Given the description of an element on the screen output the (x, y) to click on. 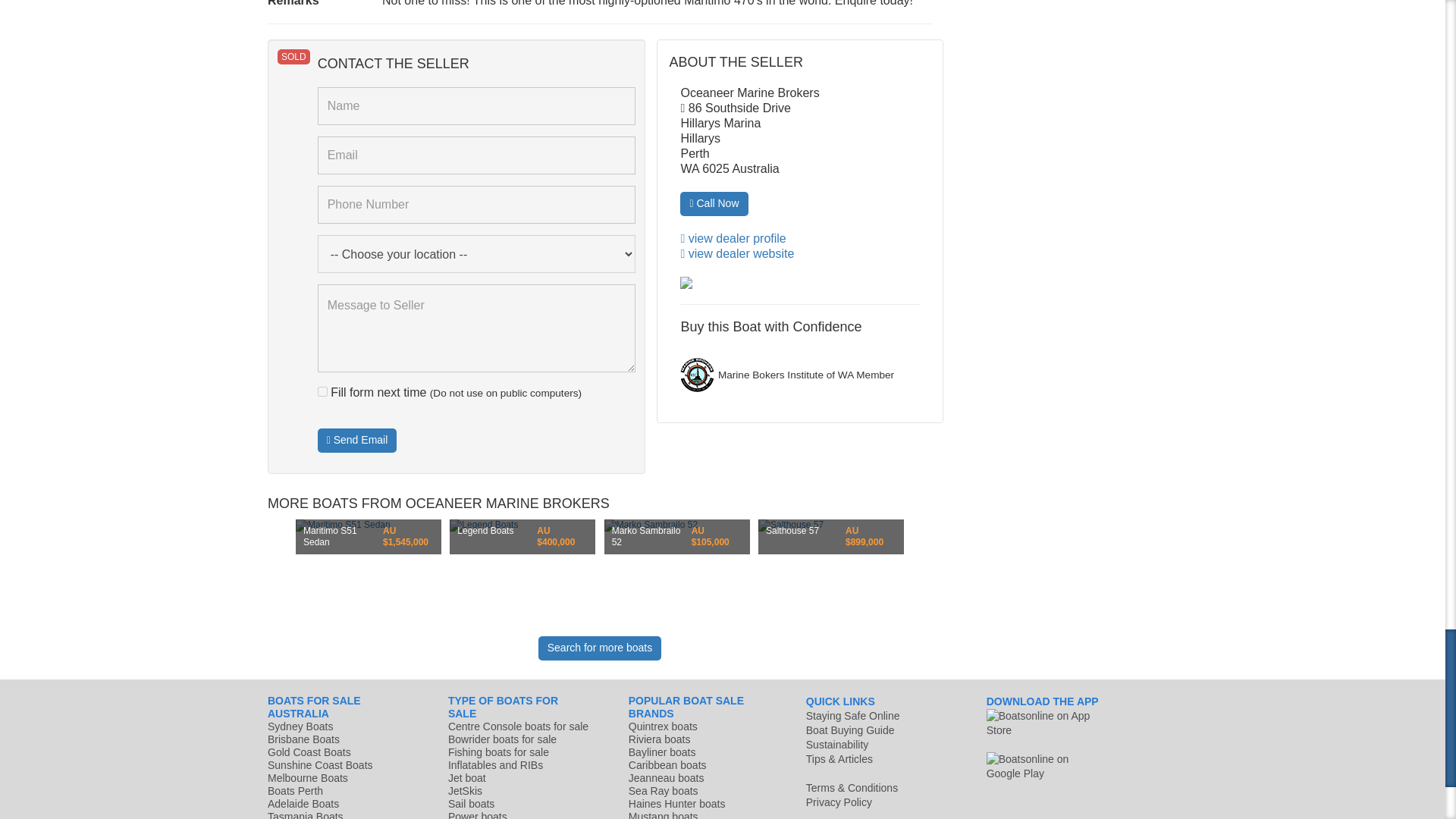
on (322, 391)
